Given the description of an element on the screen output the (x, y) to click on. 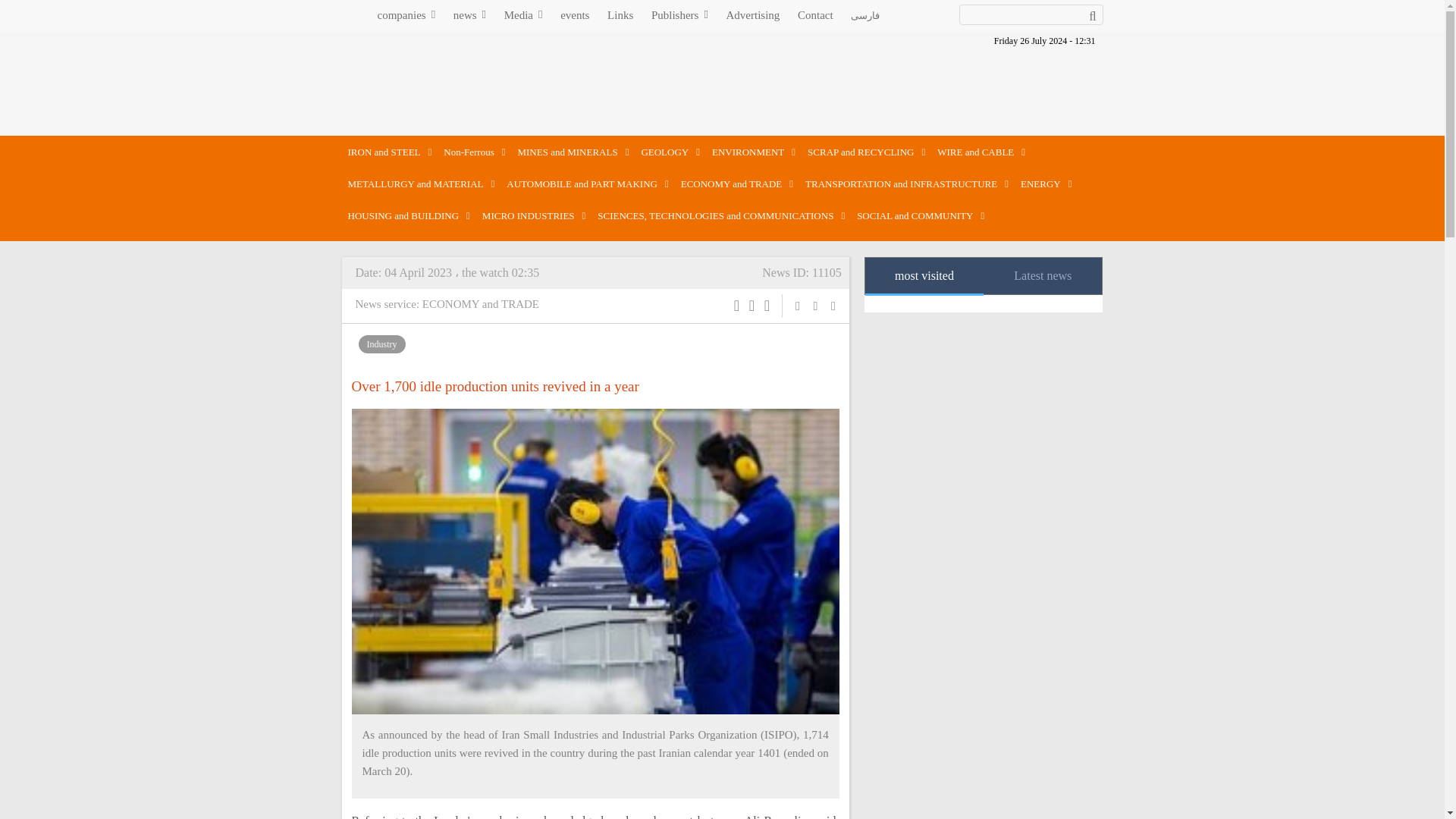
news (476, 15)
Contact (822, 15)
Publishers (686, 15)
Links (627, 15)
Advertising (760, 15)
companies (414, 15)
events (582, 15)
Media (530, 15)
Home (348, 12)
